Given the description of an element on the screen output the (x, y) to click on. 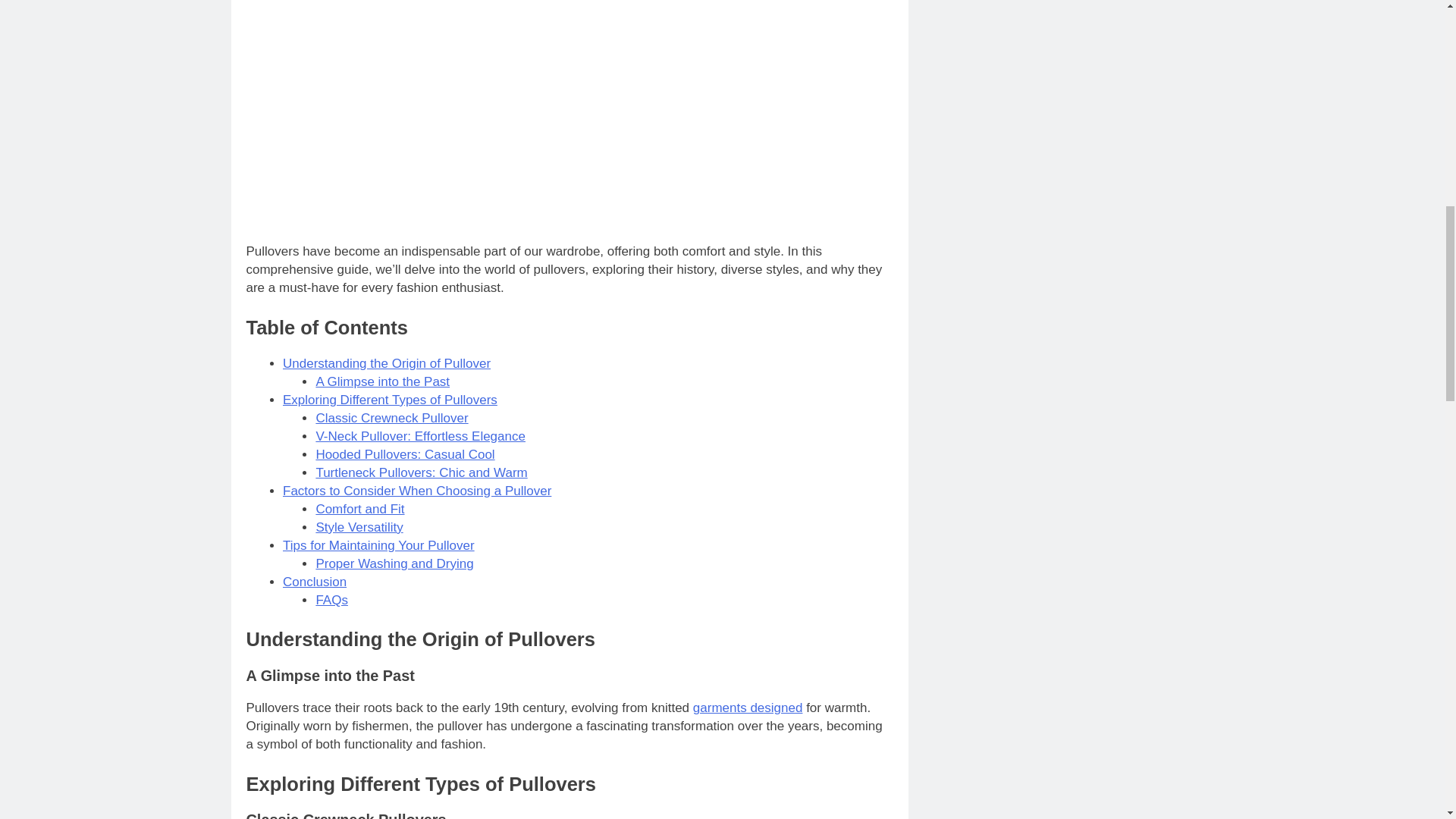
V-Neck Pullover: Effortless Elegance (420, 436)
Comfort and Fit (359, 509)
Tips for Maintaining Your Pullover (378, 545)
Understanding the Origin of Pullover (386, 363)
A Glimpse into the Past (382, 381)
Conclusion (314, 581)
Factors to Consider When Choosing a Pullover (416, 490)
Style Versatility (359, 527)
Classic Crewneck Pullover (391, 418)
Proper Washing and Drying (394, 563)
